Given the description of an element on the screen output the (x, y) to click on. 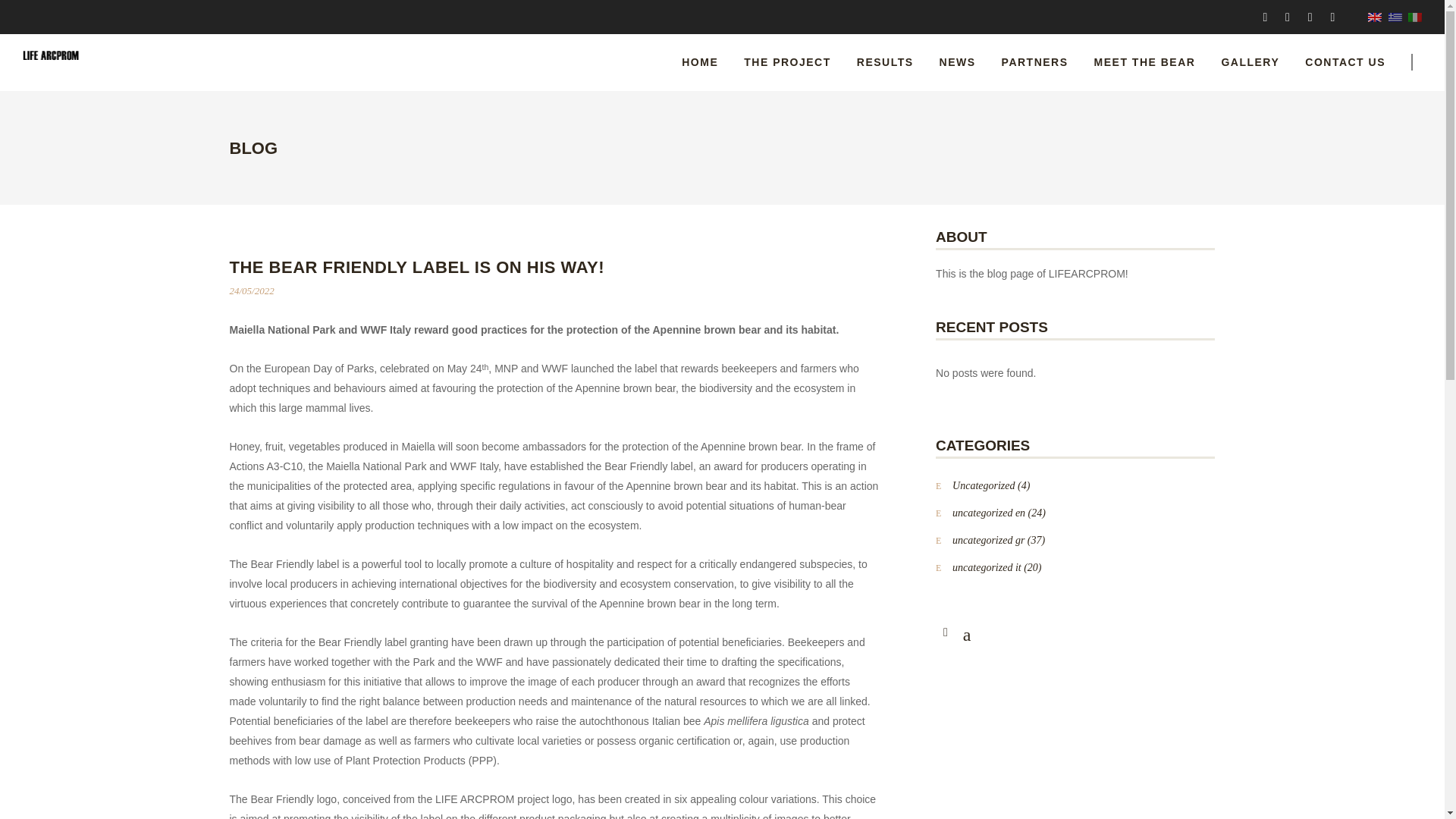
NEWS (957, 62)
GALLERY (1250, 62)
MEET THE BEAR (1144, 62)
THE PROJECT (787, 62)
HOME (699, 62)
RESULTS (885, 62)
CONTACT US (1358, 62)
PARTNERS (1034, 62)
